Given the description of an element on the screen output the (x, y) to click on. 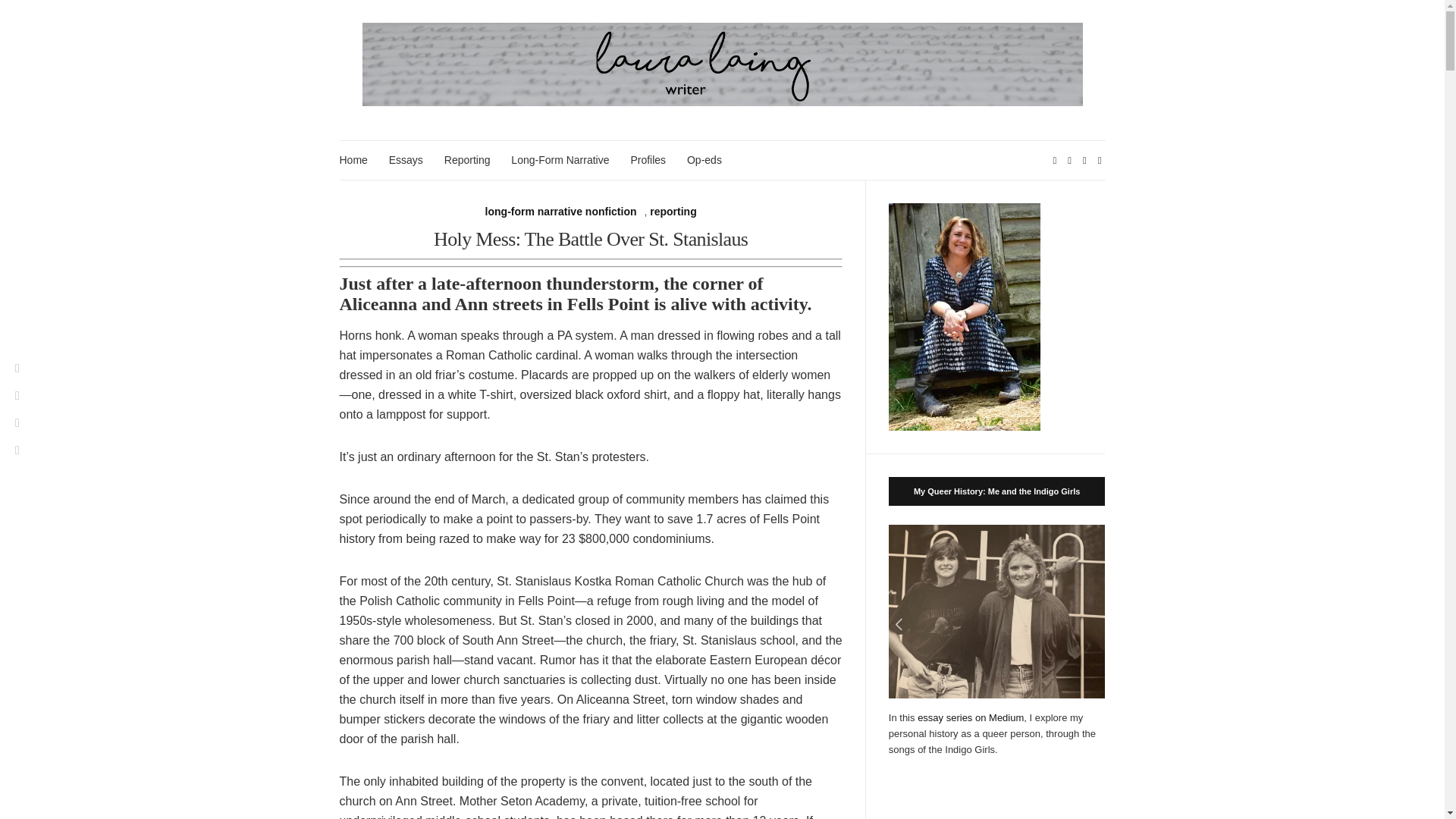
long-form narrative nonfiction (560, 211)
reporting (672, 211)
Profiles (647, 159)
Essays (405, 159)
Long-Form Narrative (559, 159)
Op-eds (704, 159)
Reporting (467, 159)
Home (353, 159)
essay series on Medium (970, 717)
